Given the description of an element on the screen output the (x, y) to click on. 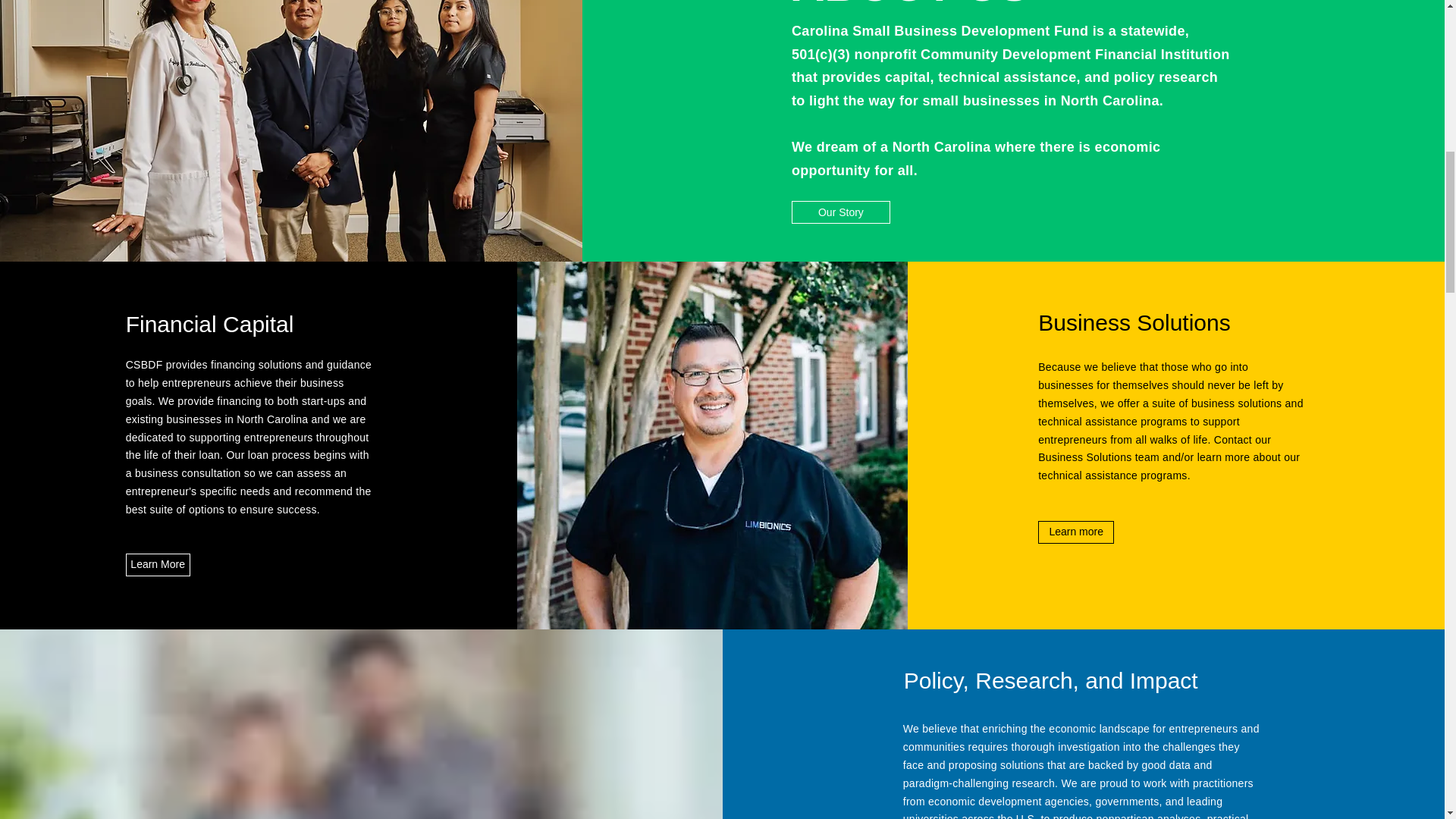
Learn More (157, 564)
Our Story (840, 211)
Learn more (1075, 531)
